Given the description of an element on the screen output the (x, y) to click on. 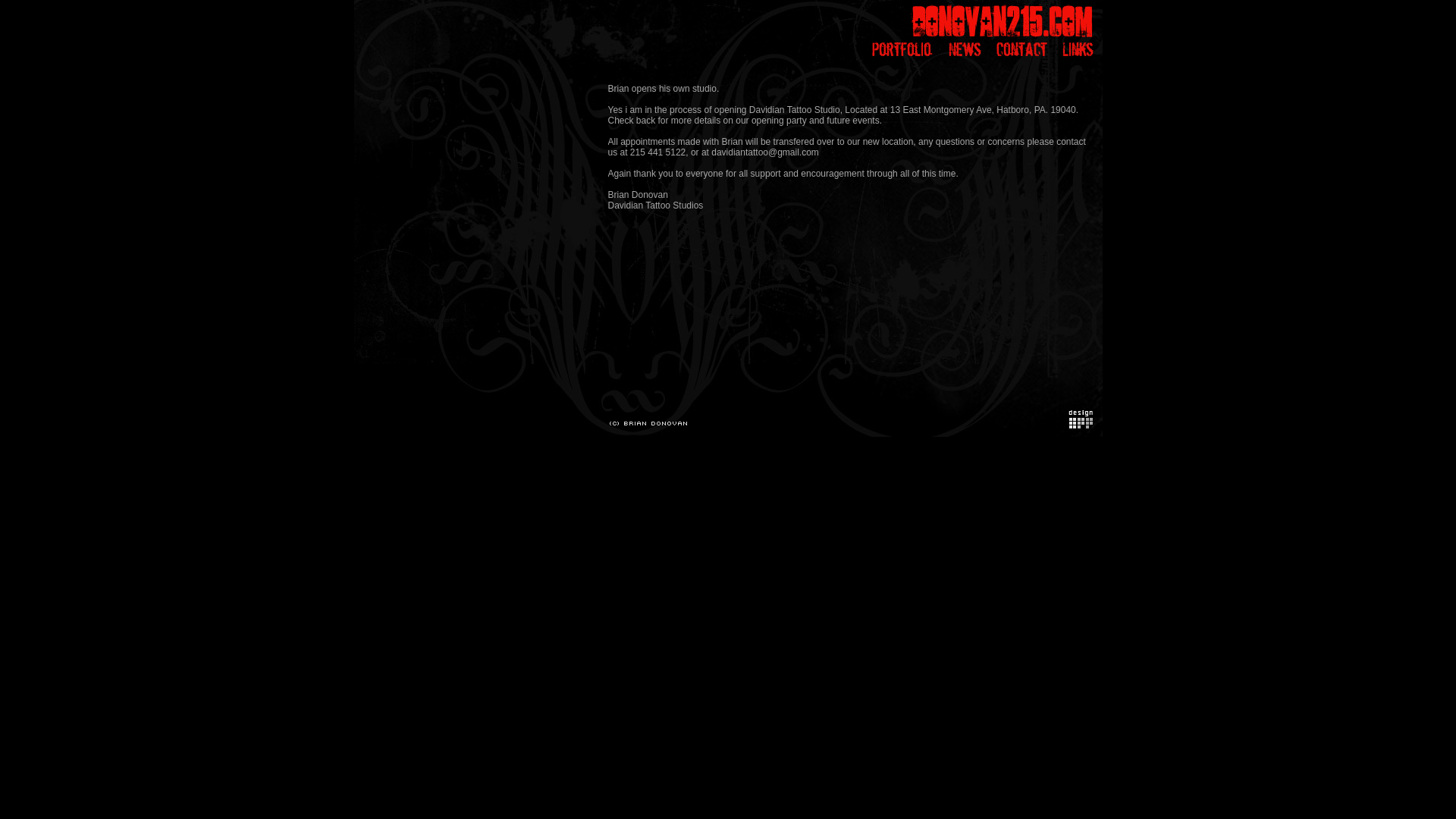
Website by OtherPeoplesPixels (1080, 425)
